Given the description of an element on the screen output the (x, y) to click on. 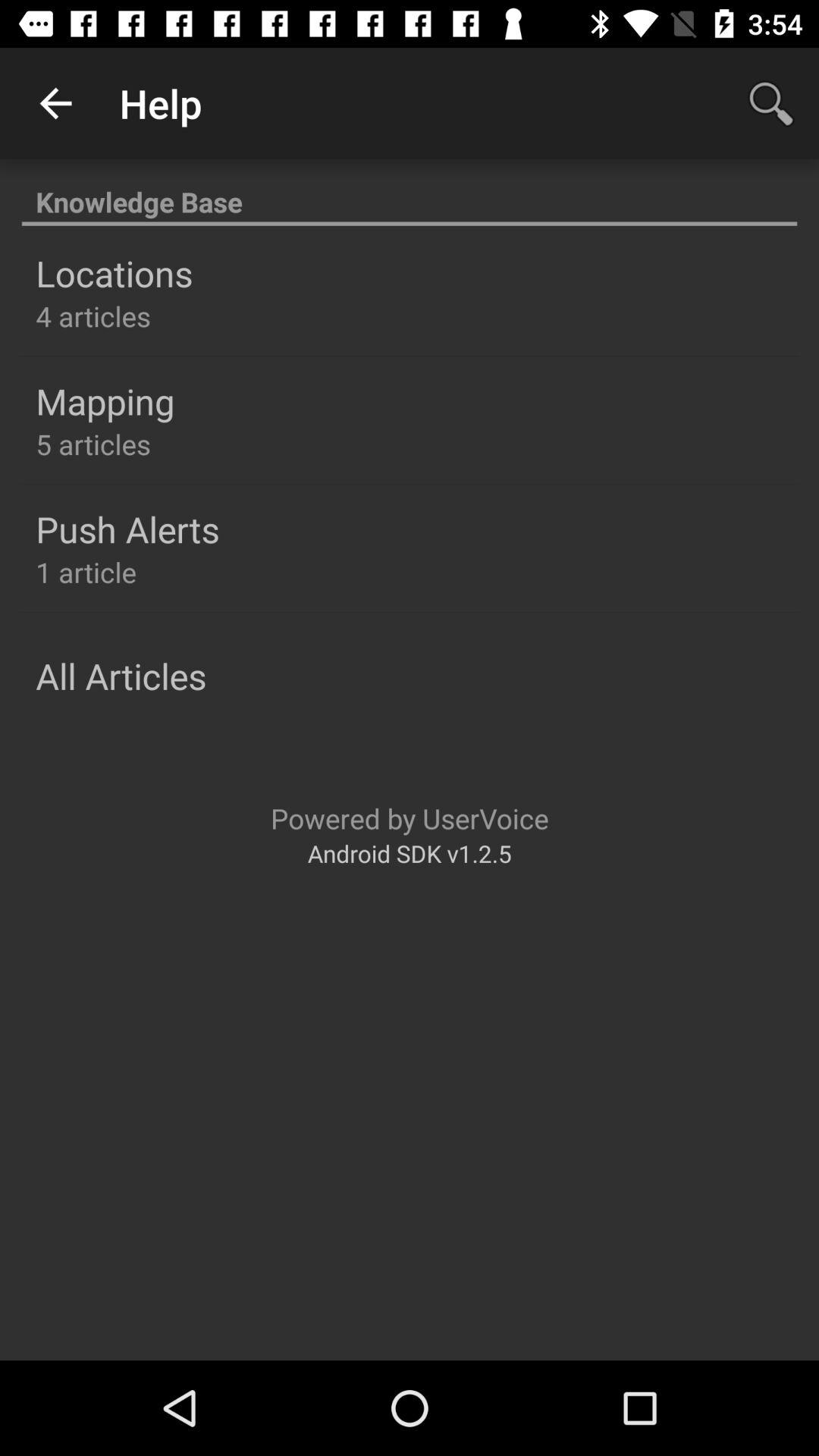
scroll until android sdk v1 icon (409, 853)
